Given the description of an element on the screen output the (x, y) to click on. 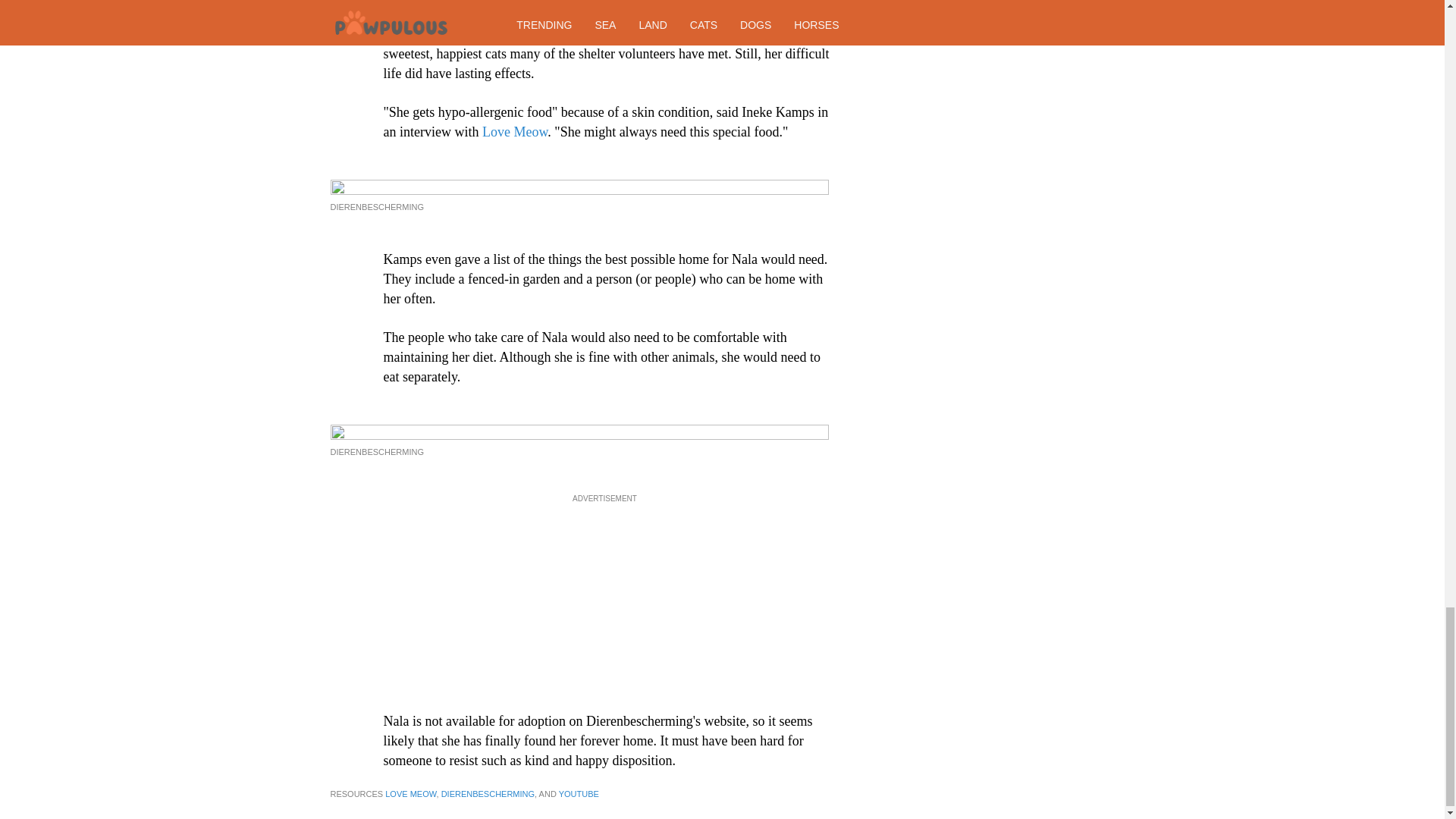
LOVE MEOW (410, 793)
DIERENBESCHERMING (376, 206)
YOUTUBE (578, 793)
DIERENBESCHERMING (487, 793)
DIERENBESCHERMING (376, 451)
Love Meow (514, 131)
